Given the description of an element on the screen output the (x, y) to click on. 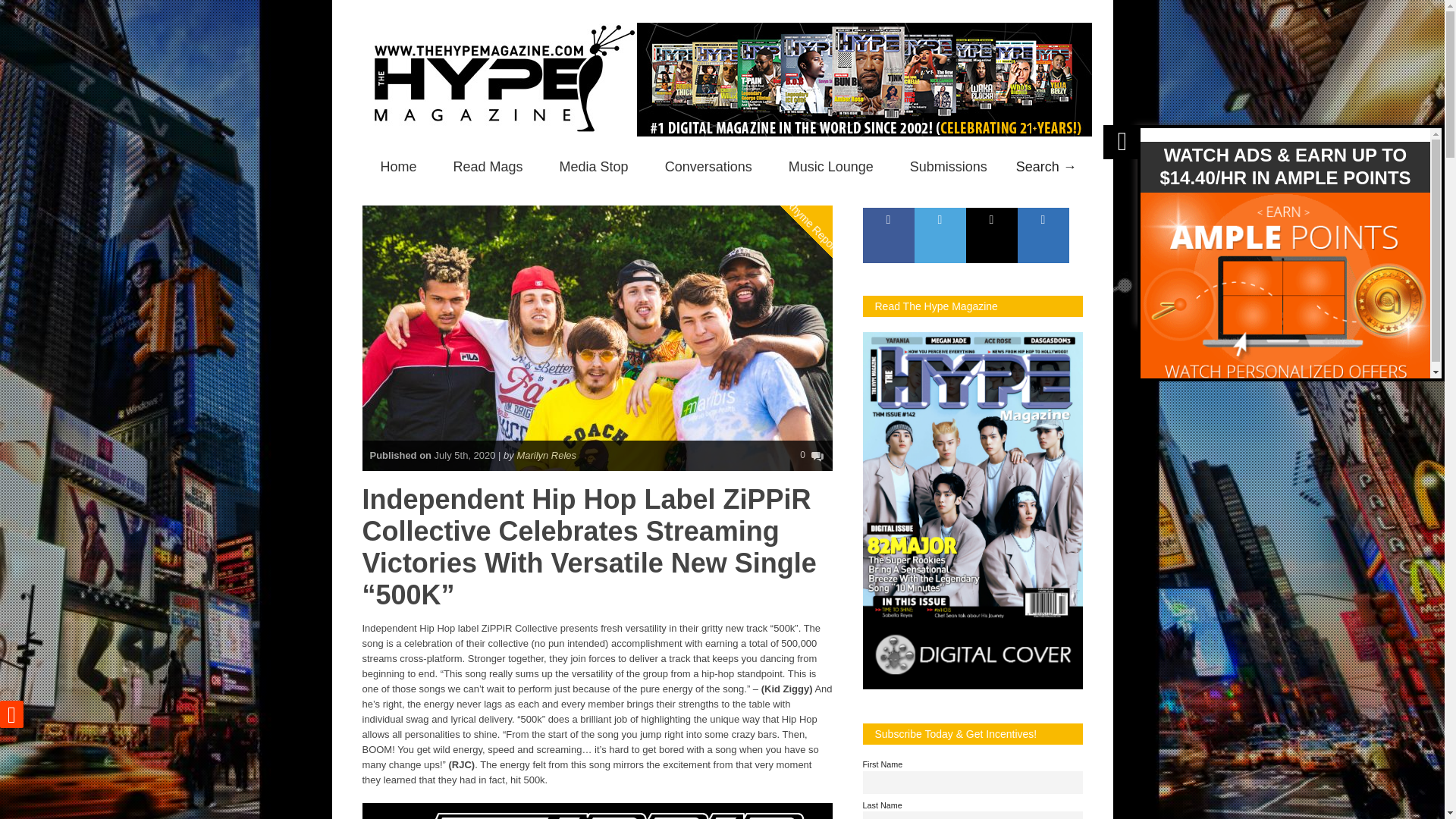
Submissions (948, 167)
Rhyme Report (828, 164)
Conversations (708, 167)
Music Lounge (830, 167)
Media Stop (593, 167)
Home (398, 167)
Read Mags (488, 167)
